Given the description of an element on the screen output the (x, y) to click on. 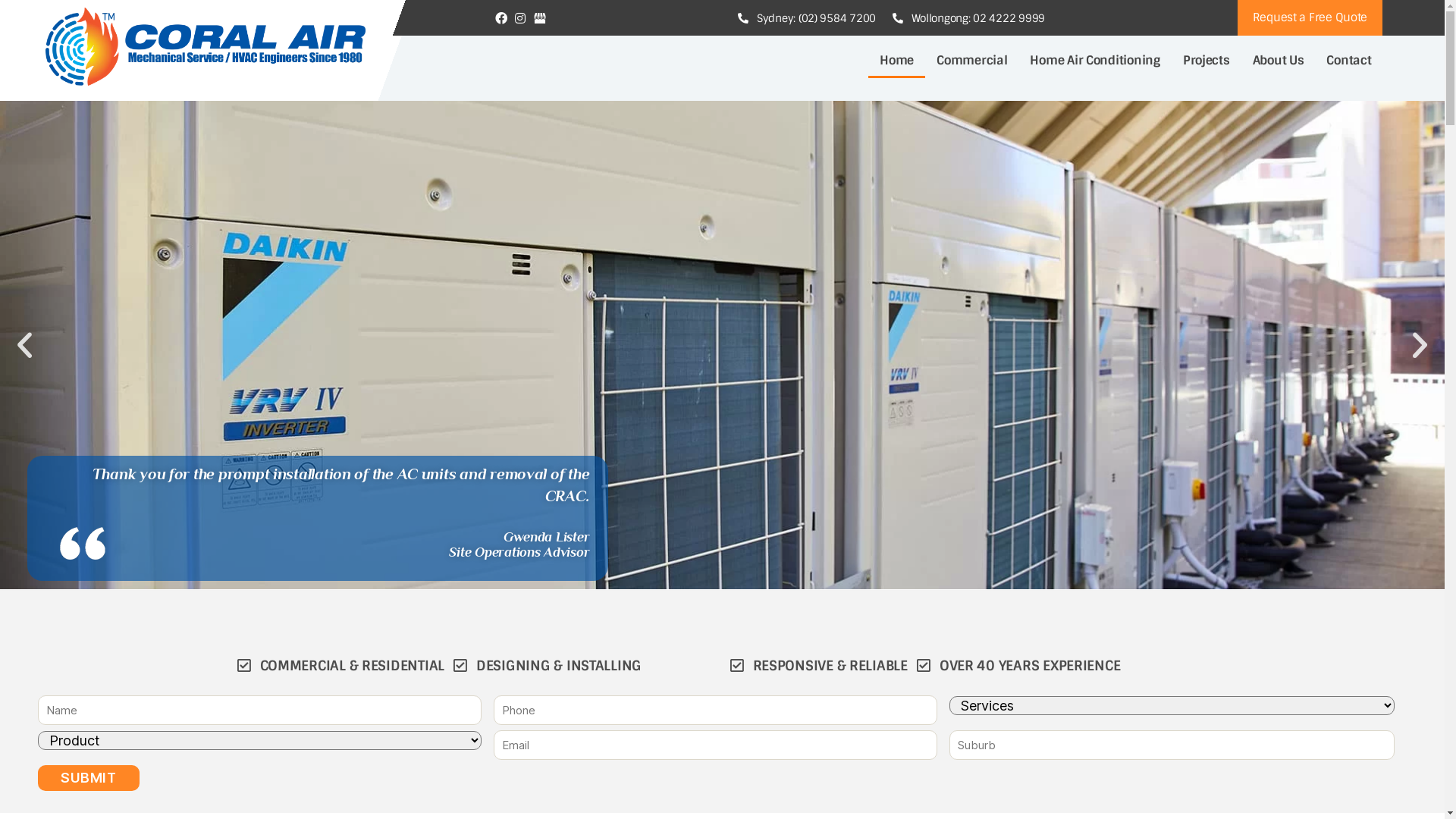
Projects Element type: text (1206, 60)
Request a Free Quote Element type: text (1310, 17)
About Us Element type: text (1278, 60)
Wollongong: 02 4222 9999 Element type: text (967, 17)
Commercial Element type: text (971, 60)
Sydney: (02) 9584 7200 Element type: text (805, 17)
Home Air Conditioning Element type: text (1094, 60)
Home Element type: text (896, 60)
Submit Element type: text (88, 778)
Contact Element type: text (1348, 60)
